Given the description of an element on the screen output the (x, y) to click on. 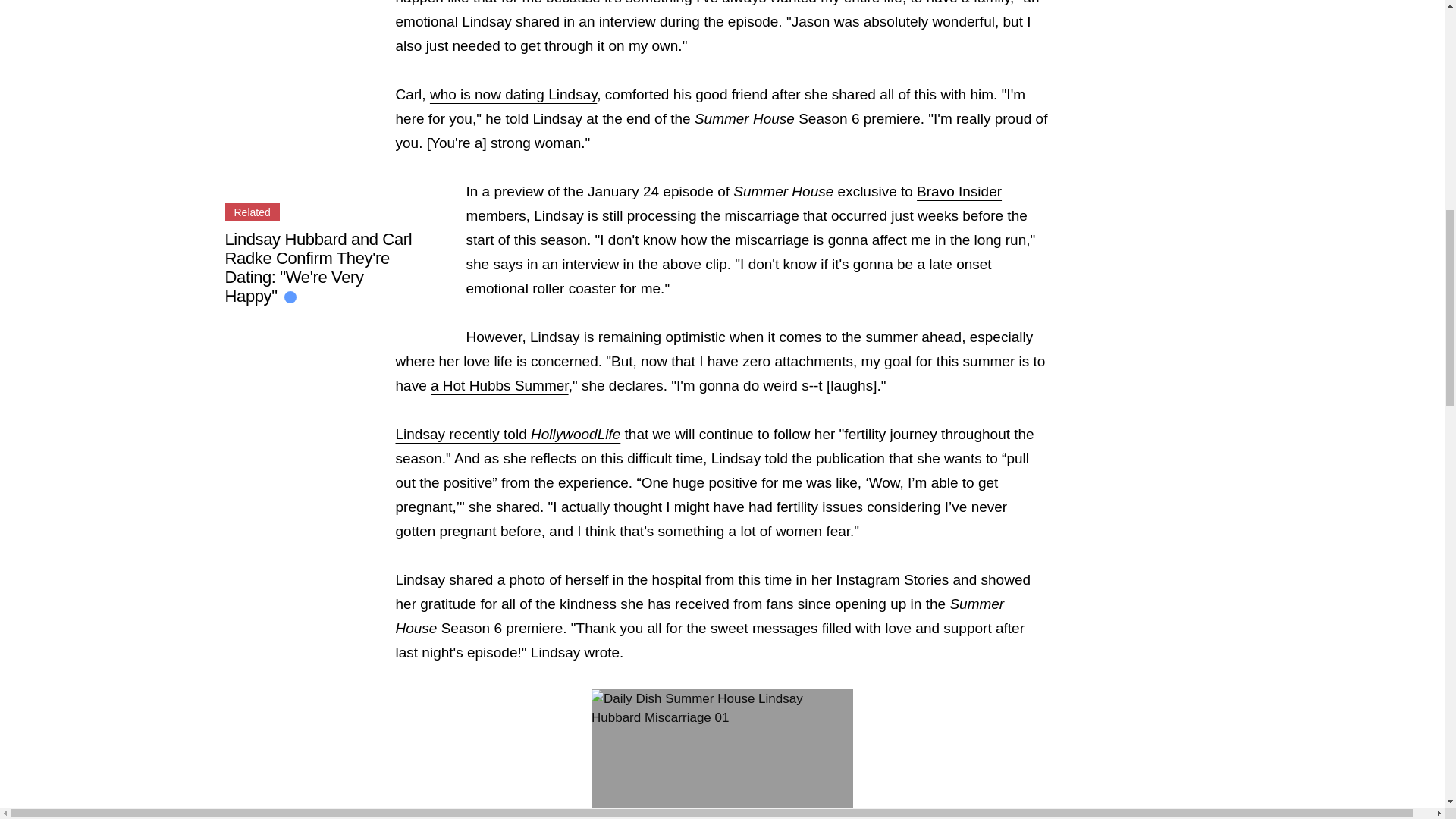
Bravo Insider (959, 191)
a Hot Hubbs Summer (499, 385)
who is now dating Lindsay (512, 94)
Lindsay recently told HollywoodLife (508, 433)
